Given the description of an element on the screen output the (x, y) to click on. 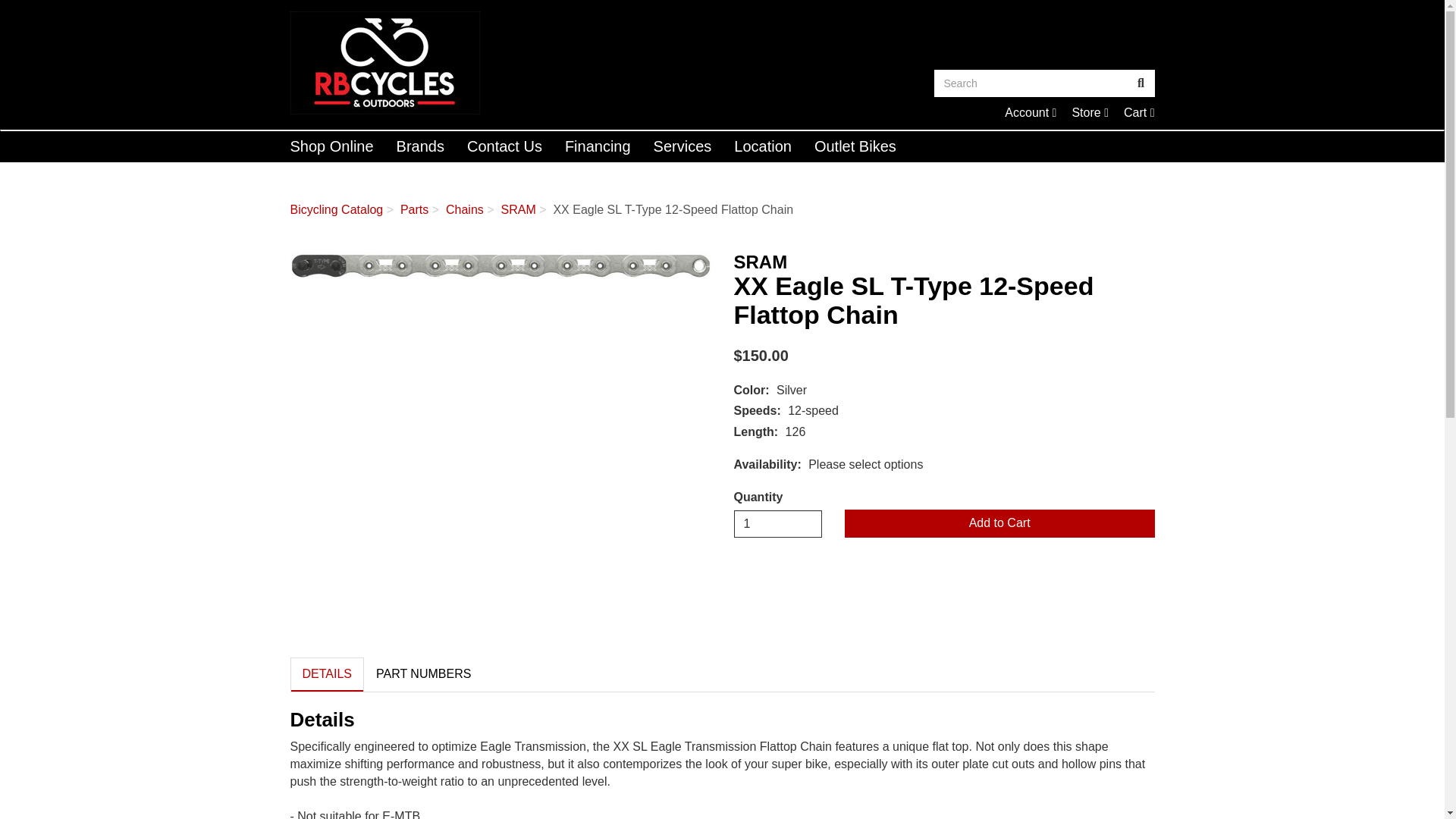
Shop Online (1139, 112)
Store (1030, 112)
1 (332, 146)
Cart (1089, 112)
Search (777, 523)
SRAM XX Eagle SL T-Type 12-Speed Flattop Chain (1139, 112)
Account (1031, 83)
RB Cycles Home Page (499, 265)
Search (1030, 112)
